Given the description of an element on the screen output the (x, y) to click on. 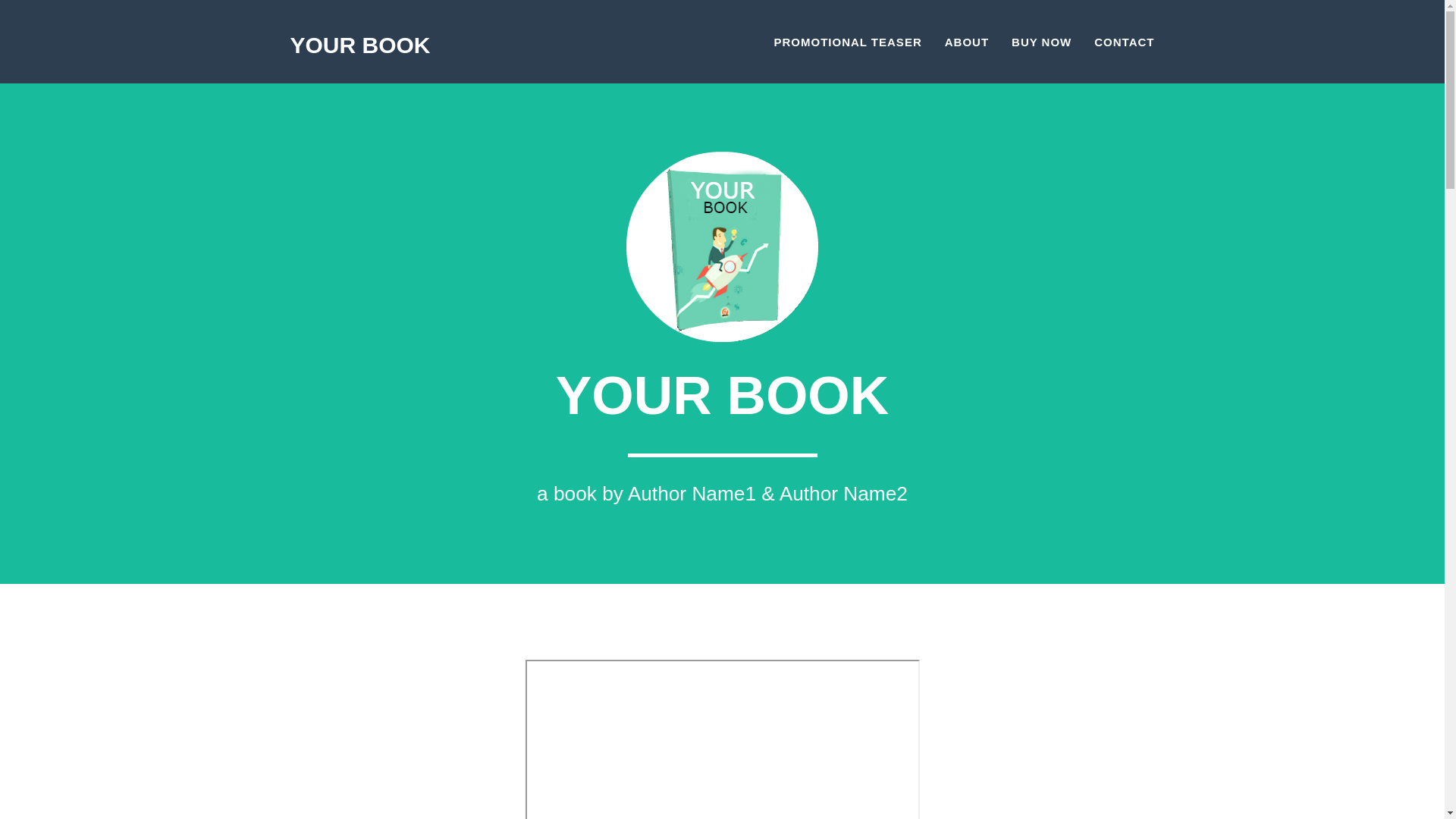
ABOUT Element type: text (966, 41)
CONTACT Element type: text (1123, 41)
BUY NOW Element type: text (1041, 41)
YOUR BOOK Element type: text (360, 41)
PROMOTIONAL TEASER Element type: text (847, 41)
